Given the description of an element on the screen output the (x, y) to click on. 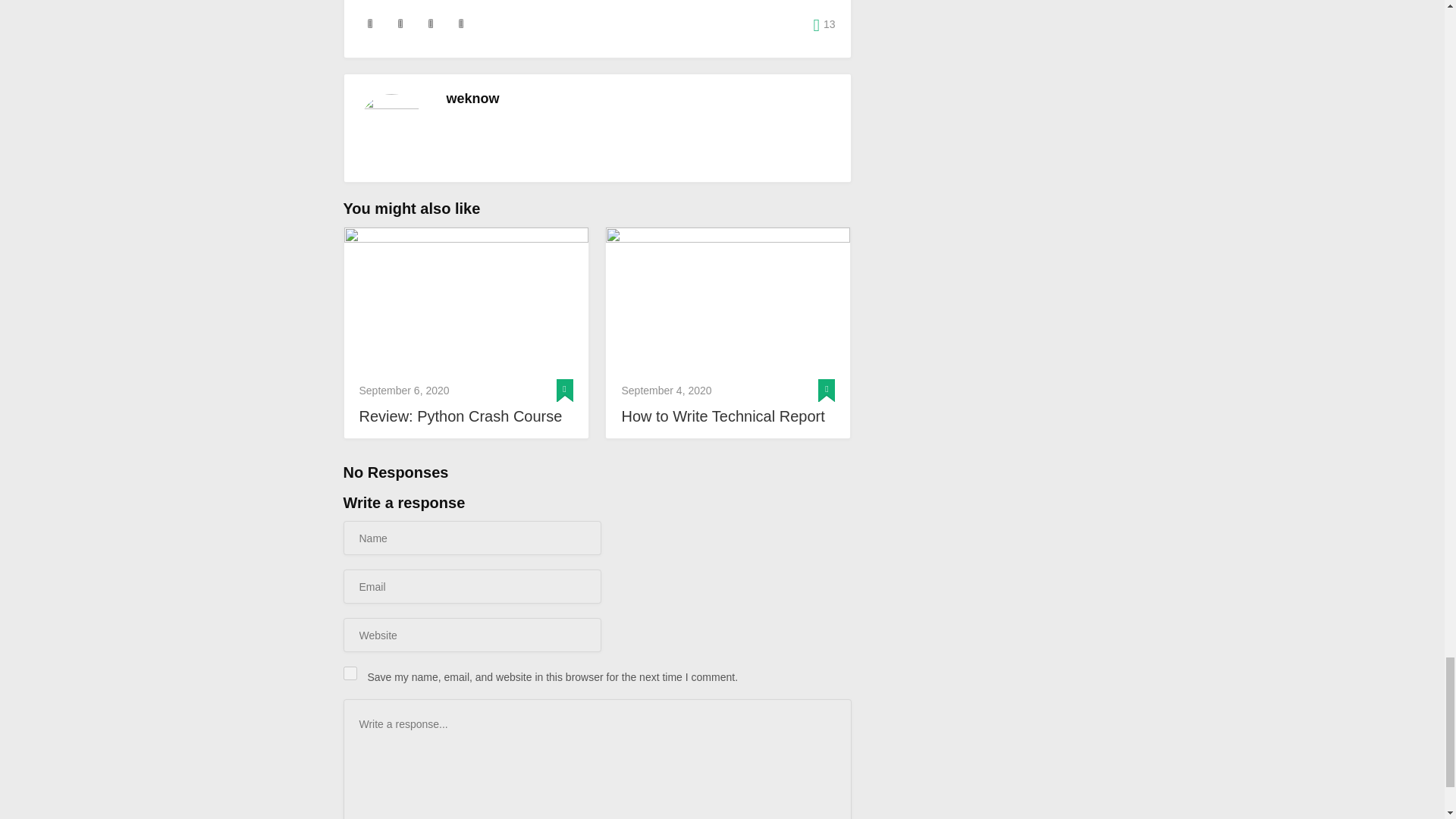
Review: Python Crash Course (466, 415)
yes (349, 673)
How to Write Technical Report (727, 415)
How to Write Technical Report (727, 415)
weknow (472, 98)
How to Write Technical Report (727, 299)
Review: Python Crash Course (466, 415)
Review: Python Crash Course (465, 299)
